Given the description of an element on the screen output the (x, y) to click on. 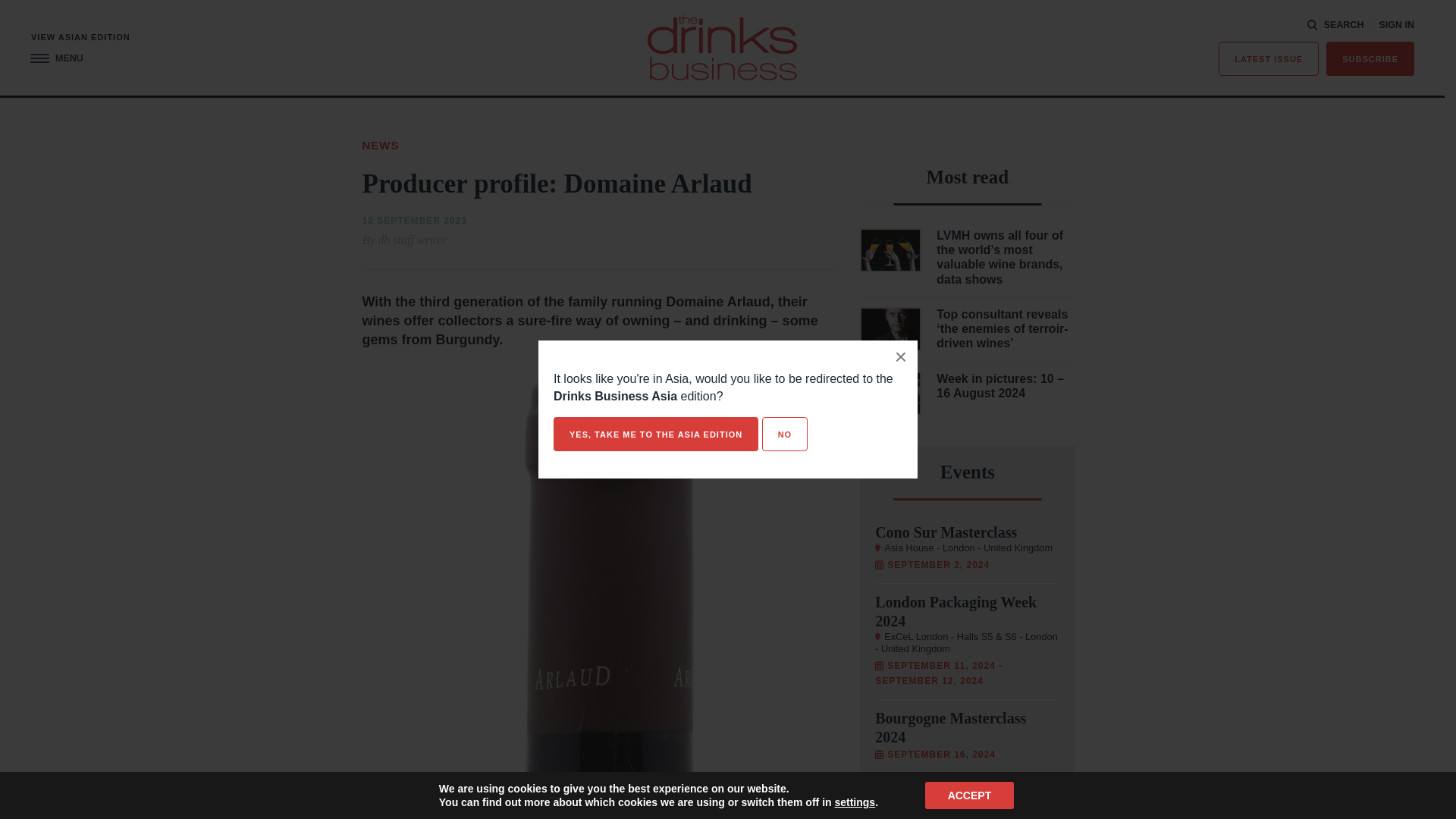
SUBSCRIBE (1369, 58)
LATEST ISSUE (1268, 58)
SIGN IN (1395, 25)
NO (784, 433)
YES, TAKE ME TO THE ASIA EDITION (655, 433)
VIEW ASIAN EDITION (80, 37)
The Drinks Business (721, 47)
